Given the description of an element on the screen output the (x, y) to click on. 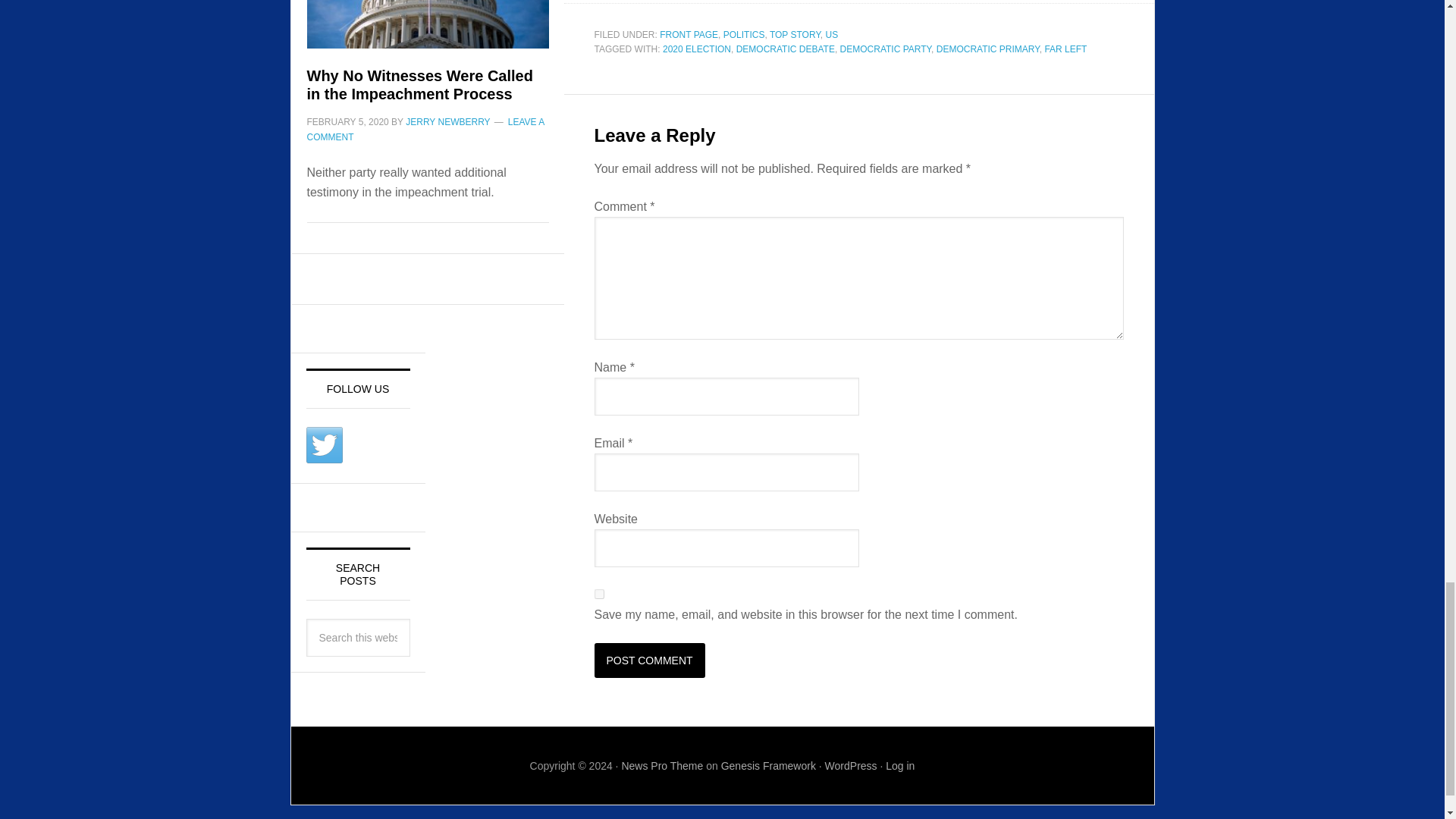
Post Comment (649, 660)
FRONT PAGE (688, 34)
TOP STORY (795, 34)
DEMOCRATIC PRIMARY (987, 49)
2020 ELECTION (696, 49)
DEMOCRATIC PARTY (885, 49)
POLITICS (744, 34)
yes (599, 593)
DEMOCRATIC DEBATE (785, 49)
Post Comment (649, 660)
US (831, 34)
FAR LEFT (1064, 49)
